Given the description of an element on the screen output the (x, y) to click on. 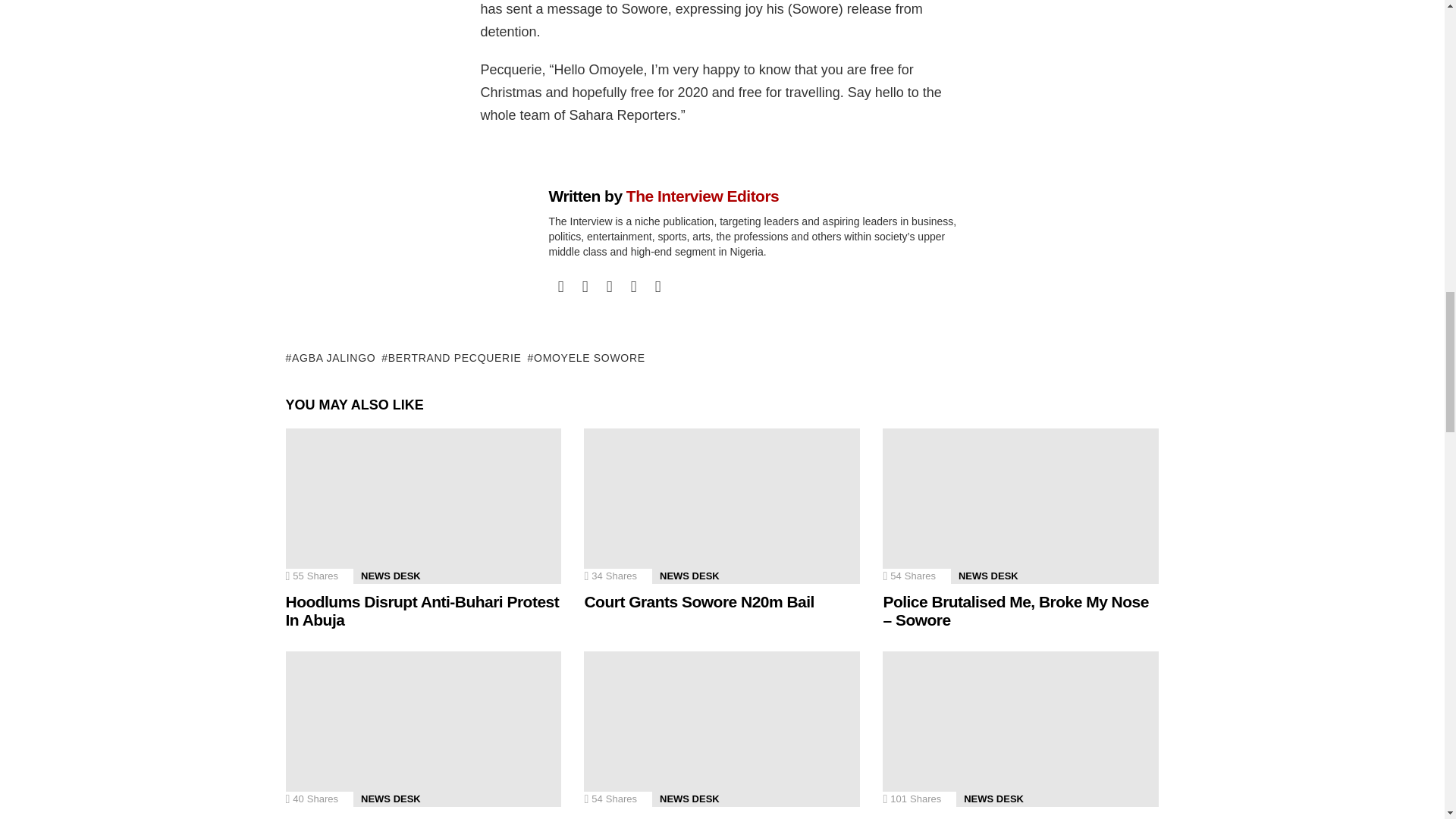
Sowore Accused Of Breaching COVID-19 Rules (422, 728)
AGBA JALINGO (330, 357)
twitter (584, 286)
The Interview Editors (702, 195)
Court Grants Sowore N20m Bail (721, 505)
Hoodlums Disrupt Anti-Buhari Protest In Abuja (422, 505)
linkedin (633, 286)
youtube (657, 286)
BERTRAND PECQUERIE (451, 357)
instagram (608, 286)
